Given the description of an element on the screen output the (x, y) to click on. 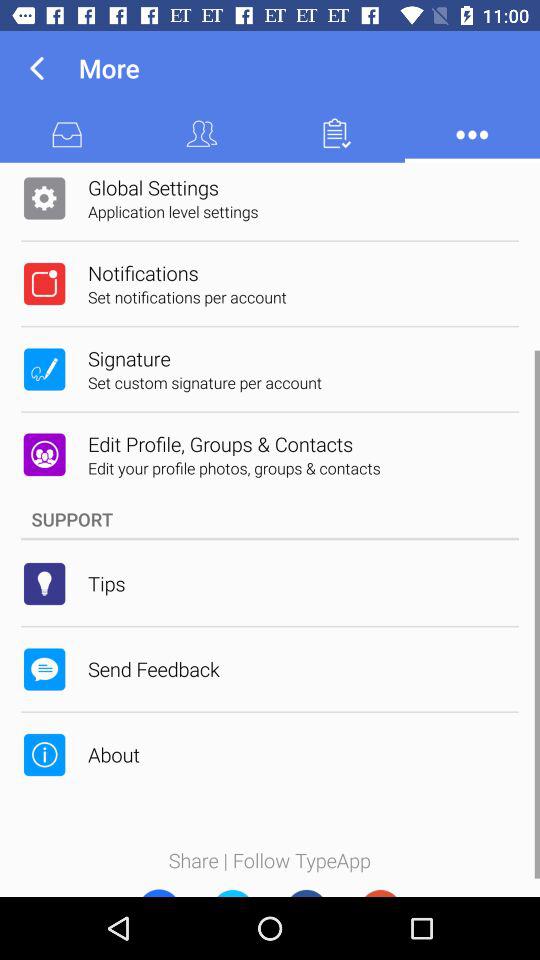
choose icon above set notifications per item (269, 133)
